Given the description of an element on the screen output the (x, y) to click on. 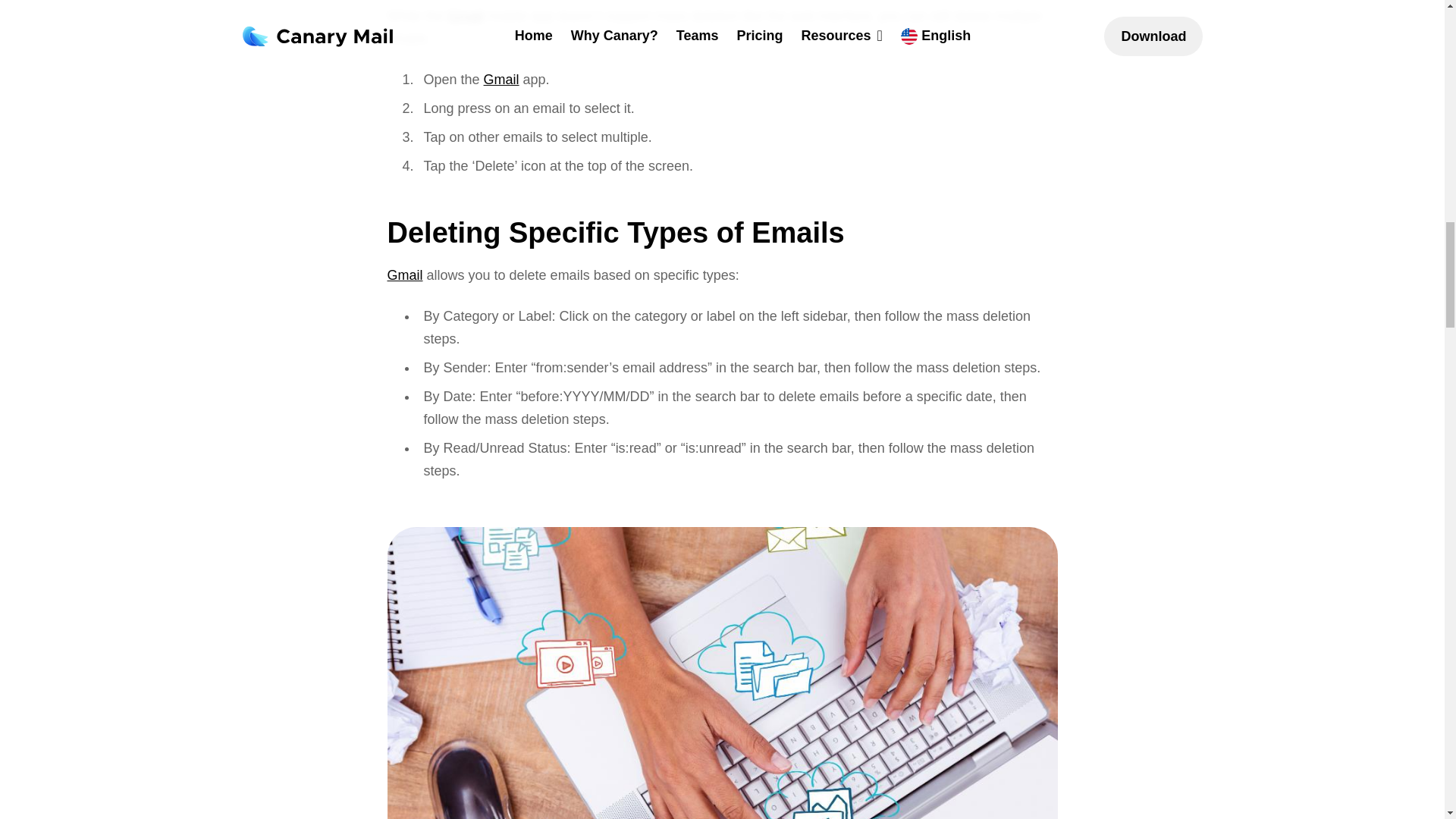
Gmail (465, 15)
Gmail (404, 274)
Gmail (501, 79)
